Given the description of an element on the screen output the (x, y) to click on. 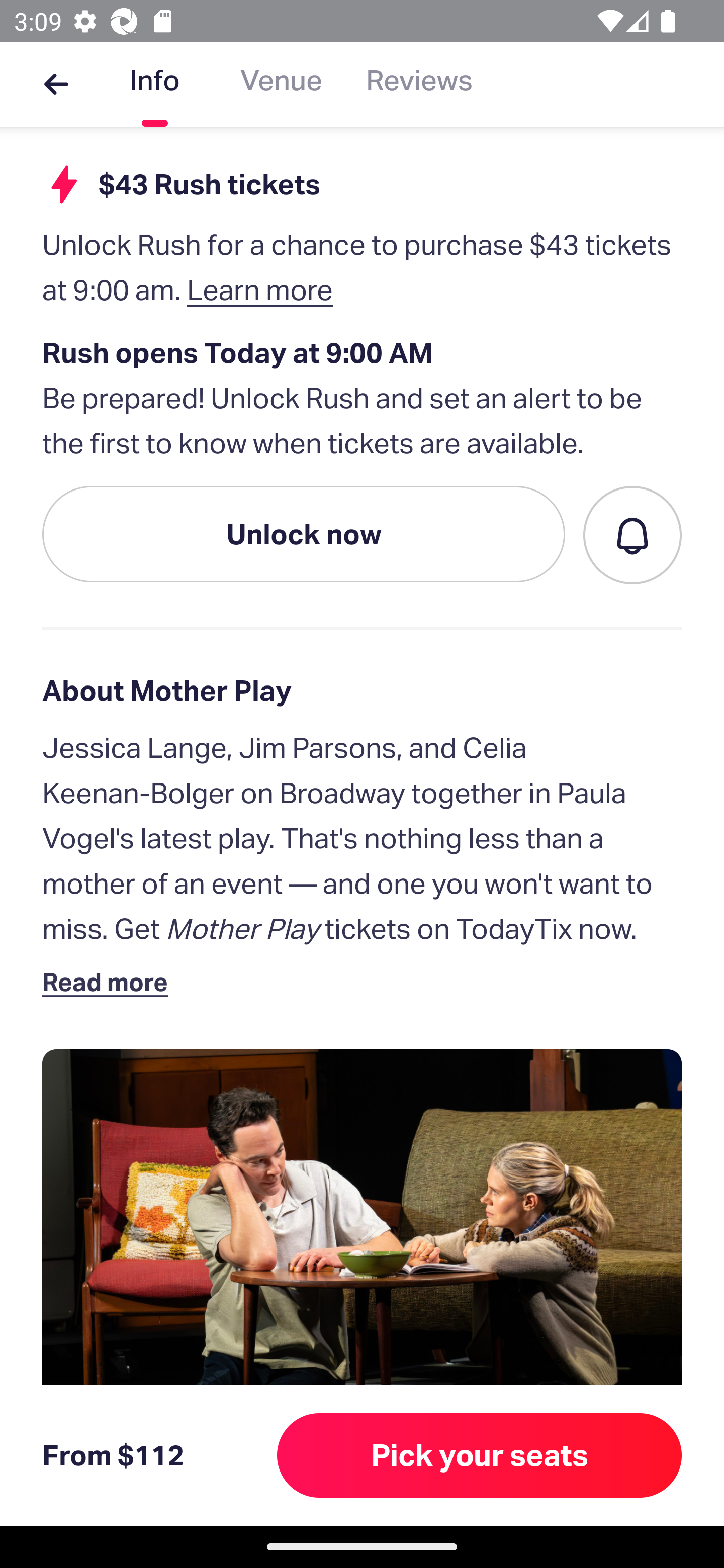
Venue (280, 84)
Reviews (419, 84)
Unlock now (303, 533)
About Mother Play (361, 690)
Read more (109, 981)
Pick your seats (479, 1454)
